Given the description of an element on the screen output the (x, y) to click on. 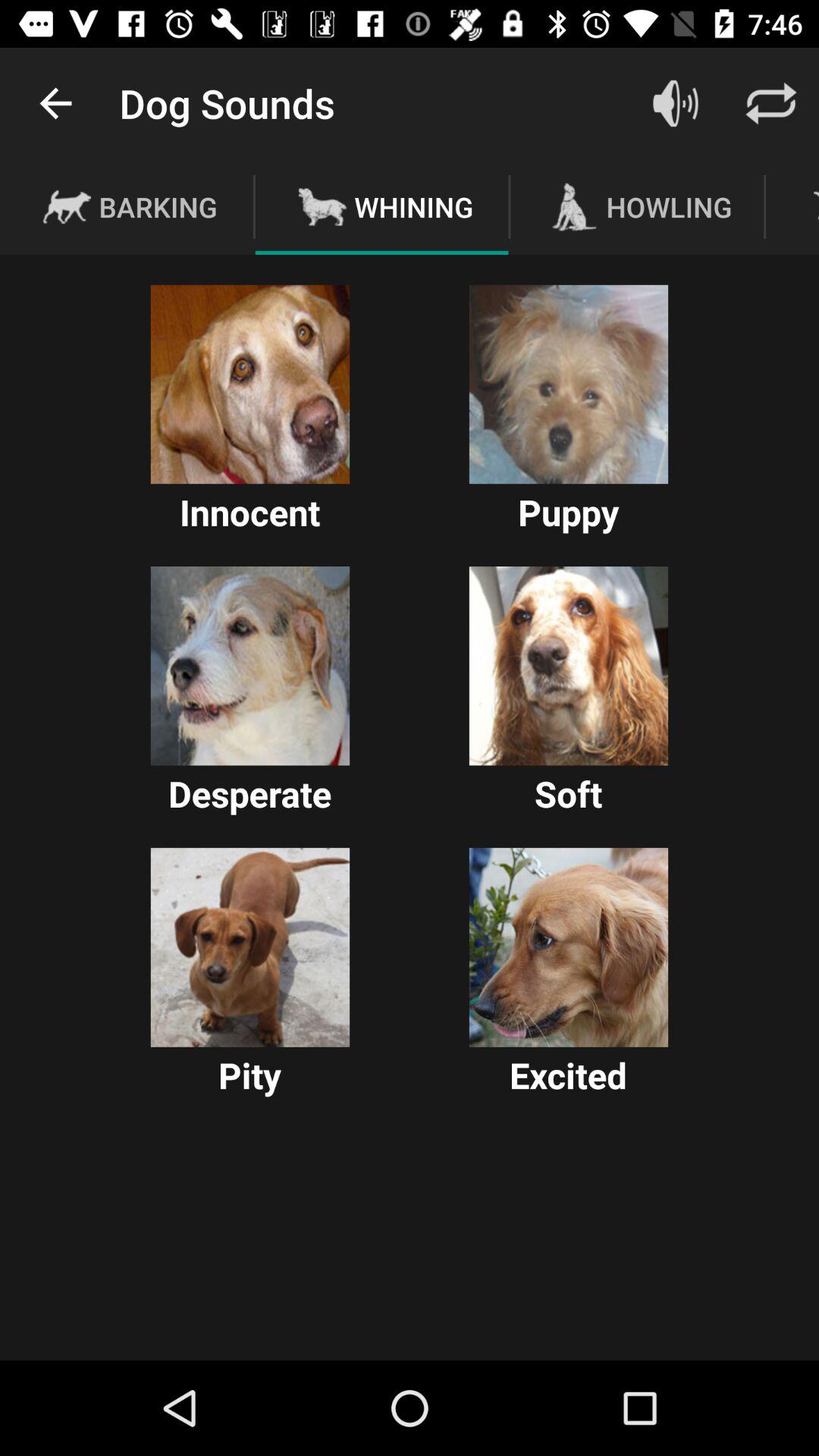
volume (675, 103)
